Given the description of an element on the screen output the (x, y) to click on. 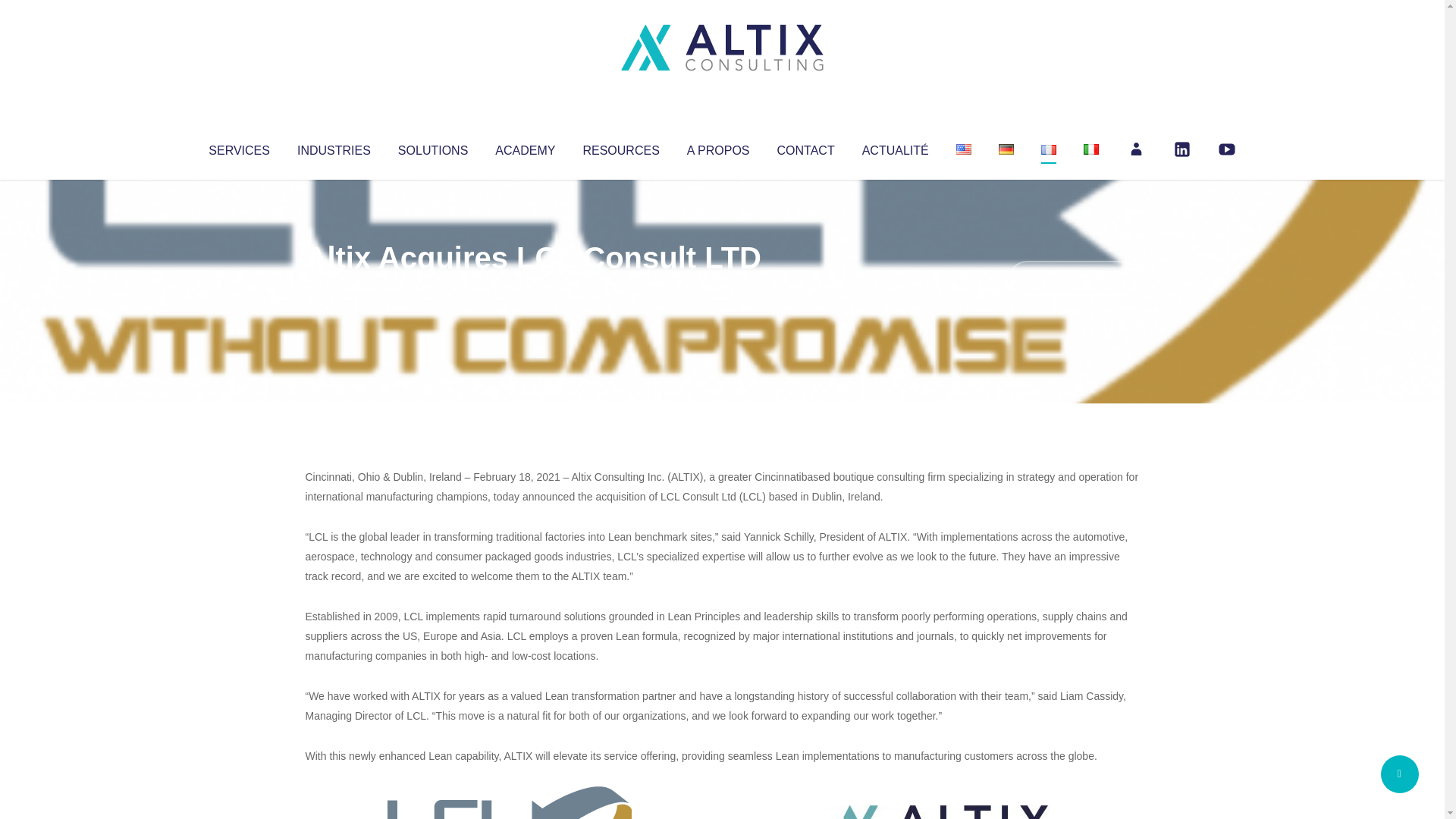
RESOURCES (620, 146)
ACADEMY (524, 146)
Altix (333, 287)
Articles par Altix (333, 287)
INDUSTRIES (334, 146)
SOLUTIONS (432, 146)
Uncategorized (530, 287)
No Comments (1073, 278)
A PROPOS (718, 146)
SERVICES (238, 146)
